Given the description of an element on the screen output the (x, y) to click on. 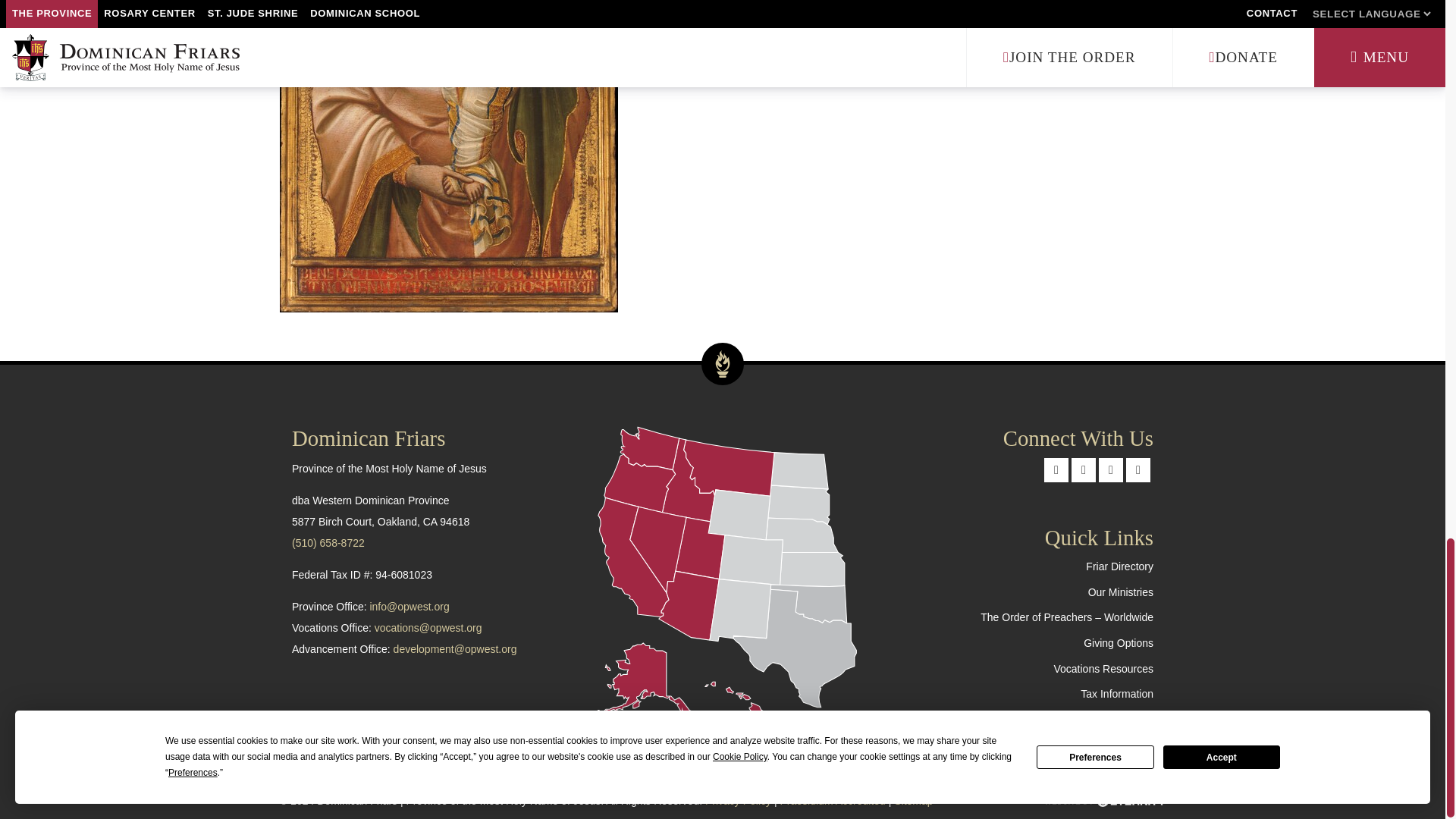
Follow us on Twitter (1083, 469)
Follow us on Instagram (1110, 469)
Find us on Facebook (1055, 469)
Watch us on YouTube (1137, 469)
